Given the description of an element on the screen output the (x, y) to click on. 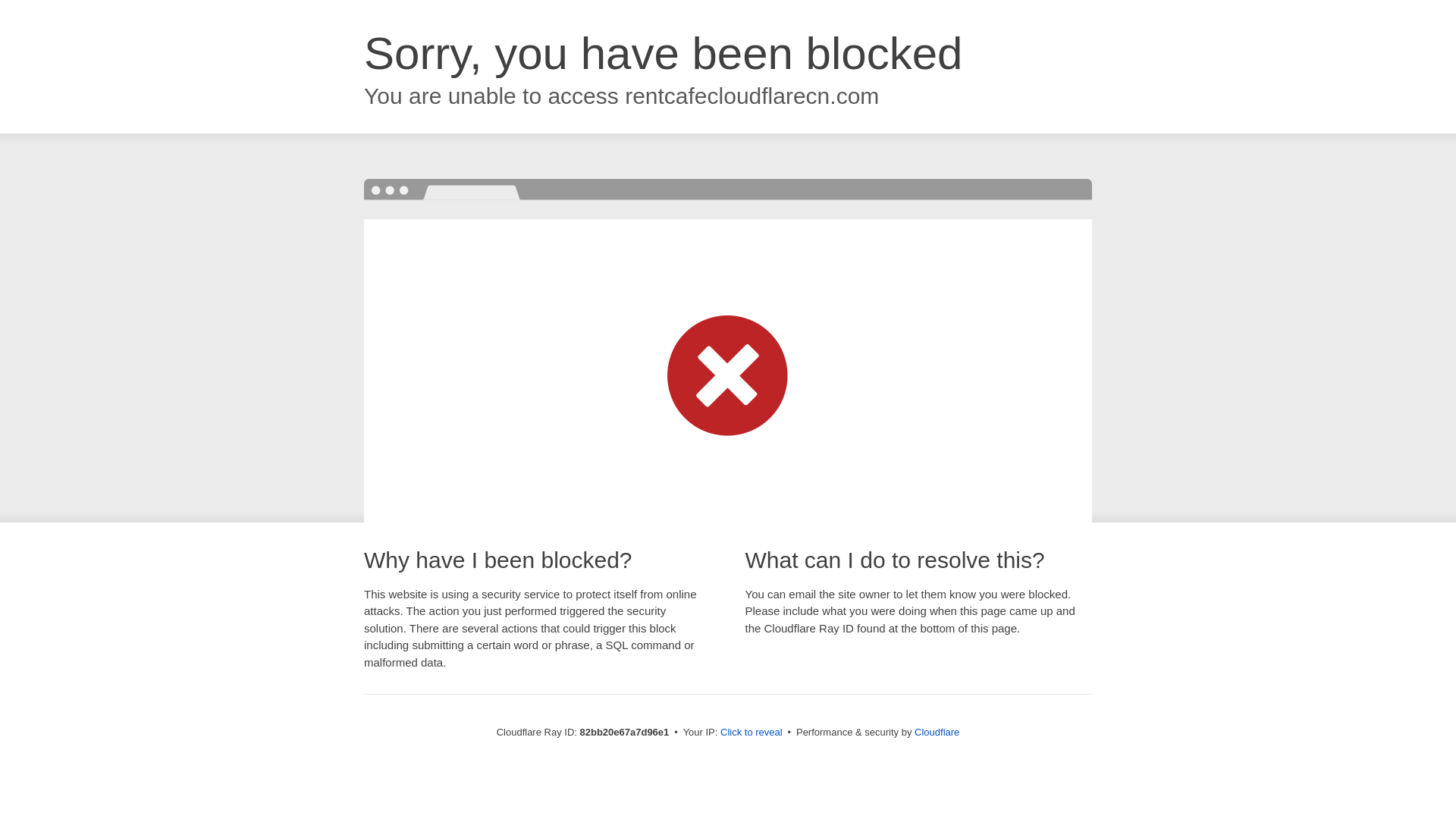
Click to reveal Element type: text (751, 732)
Cloudflare Element type: text (936, 731)
